Given the description of an element on the screen output the (x, y) to click on. 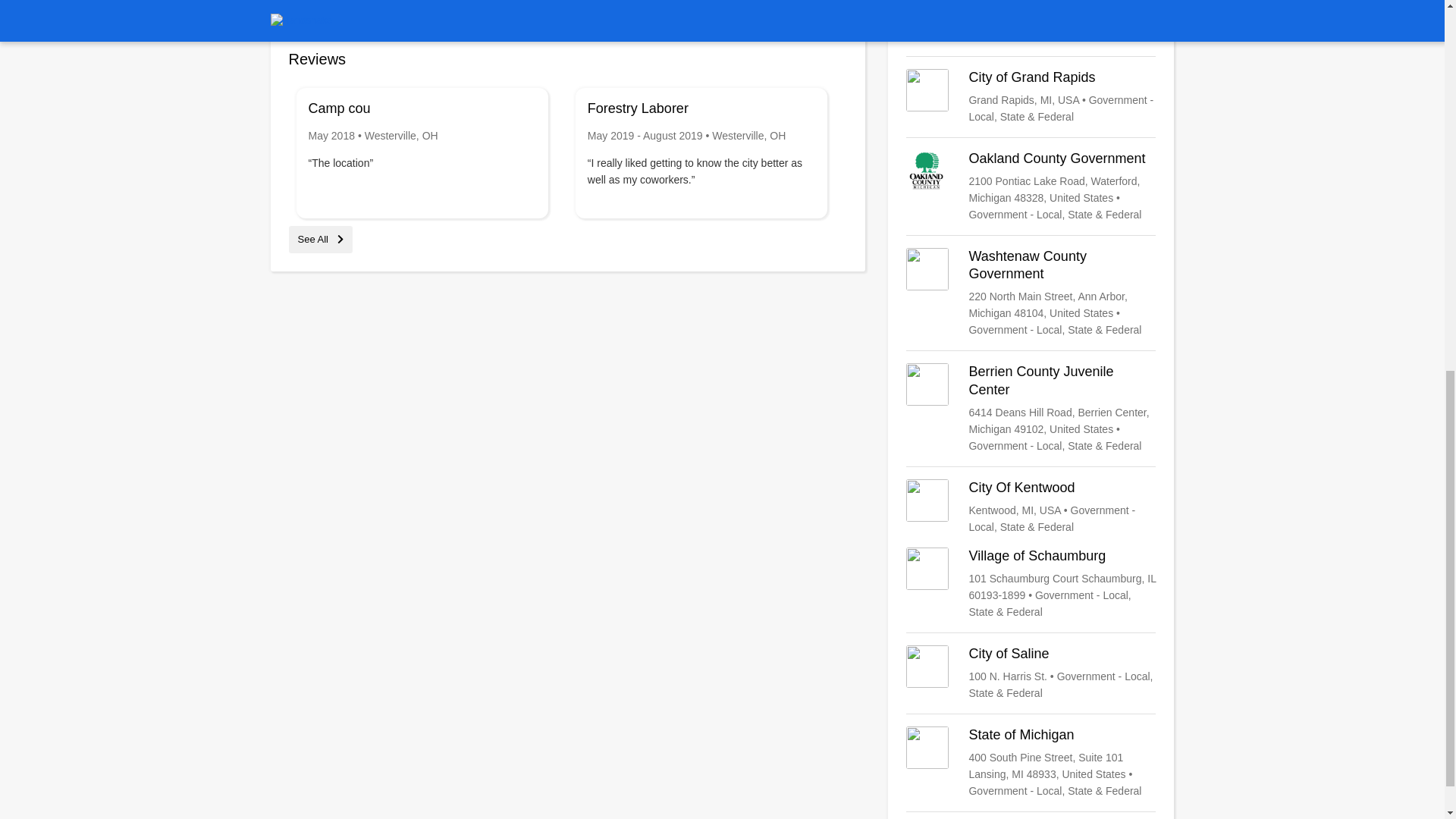
City of Indianapolis (1030, 22)
State of Michigan (1030, 762)
Oakland County Government (1030, 185)
City of Grand Rapids (1030, 96)
Berrien County Juvenile Center (1030, 408)
Washtenaw County Government (1030, 293)
City of Saline (1030, 673)
See All (320, 238)
City Of Kentwood (1030, 507)
Village of Schaumburg (1030, 583)
